Given the description of an element on the screen output the (x, y) to click on. 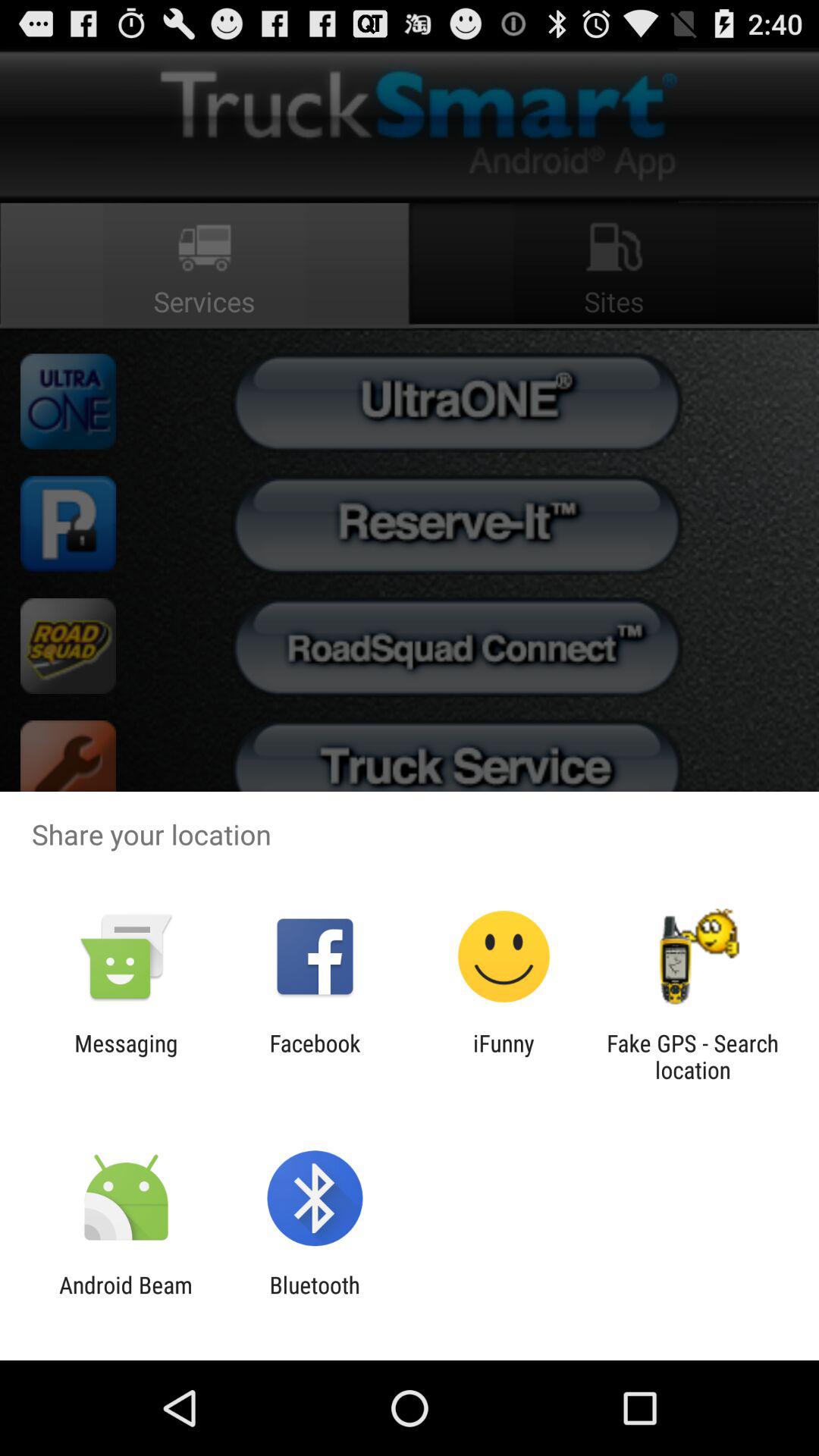
select the app next to facebook app (503, 1056)
